Given the description of an element on the screen output the (x, y) to click on. 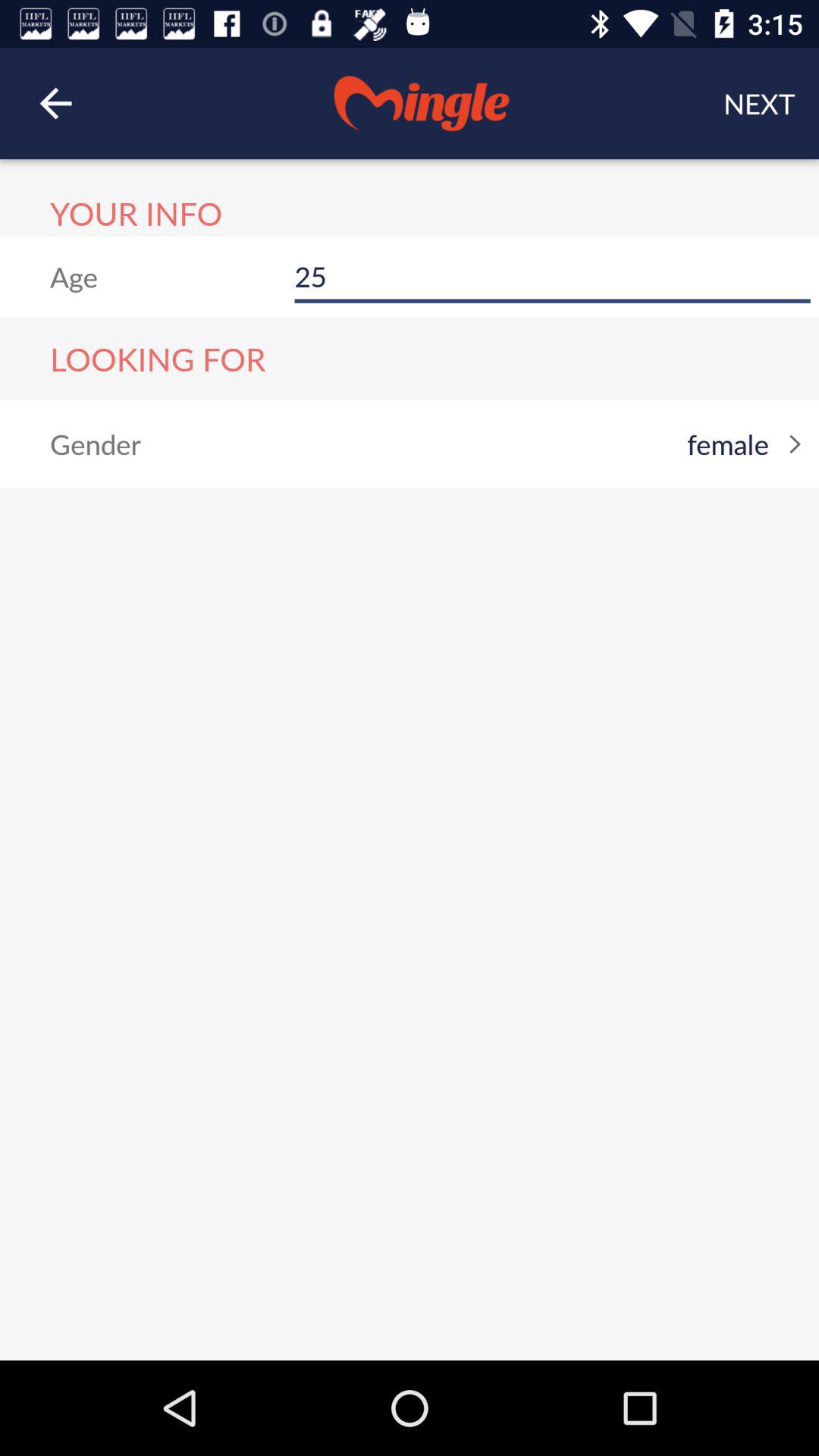
select item above the your info icon (55, 103)
